Given the description of an element on the screen output the (x, y) to click on. 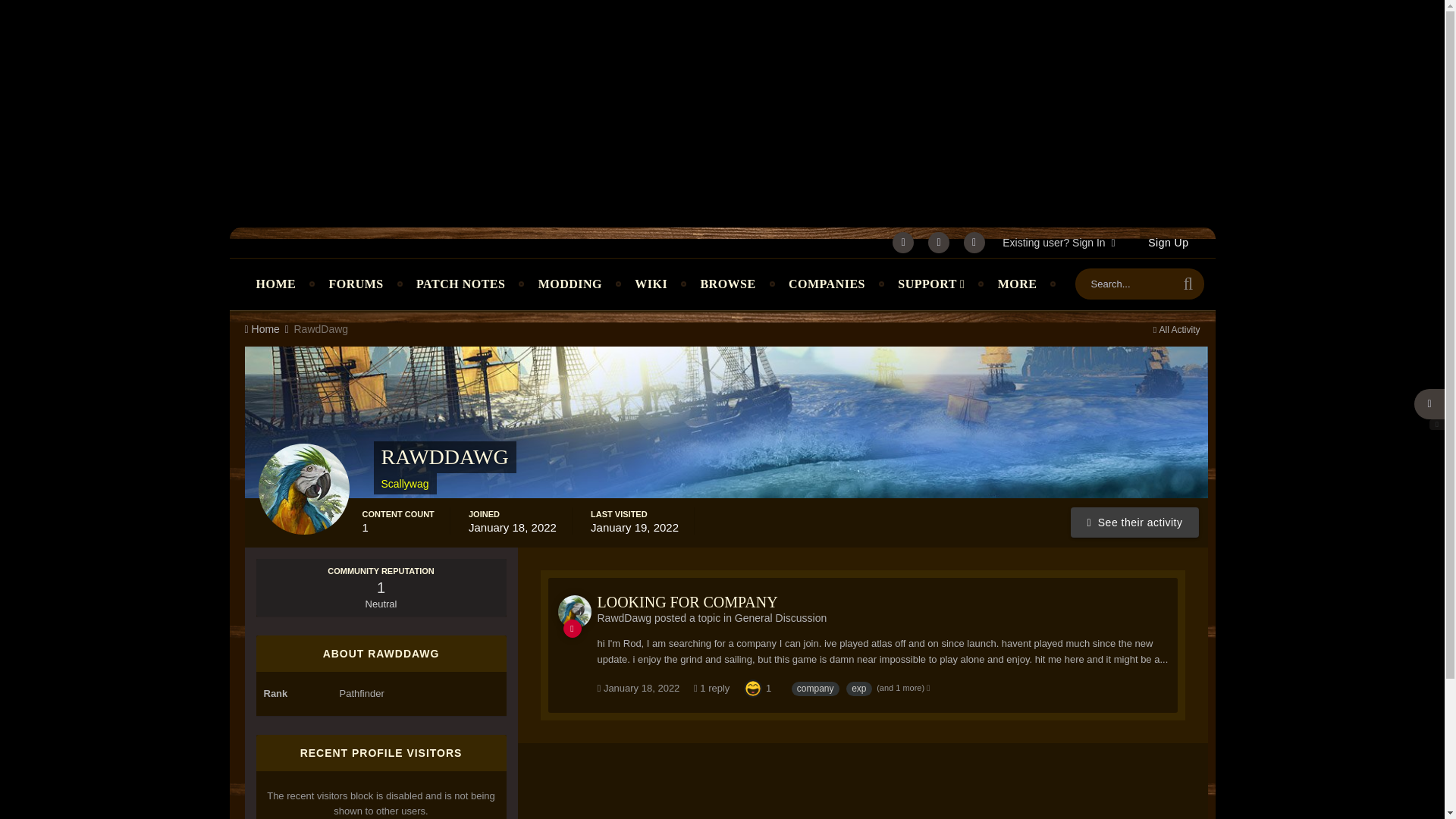
Home (266, 328)
Find other content tagged with 'exp' (857, 688)
Haha (752, 686)
COMPANIES (826, 284)
HOME (276, 284)
RawdDawg's Content (1134, 521)
Find other content tagged with 'company' (816, 688)
BROWSE (727, 284)
Sign Up (1168, 242)
FORUMS (355, 284)
